Given the description of an element on the screen output the (x, y) to click on. 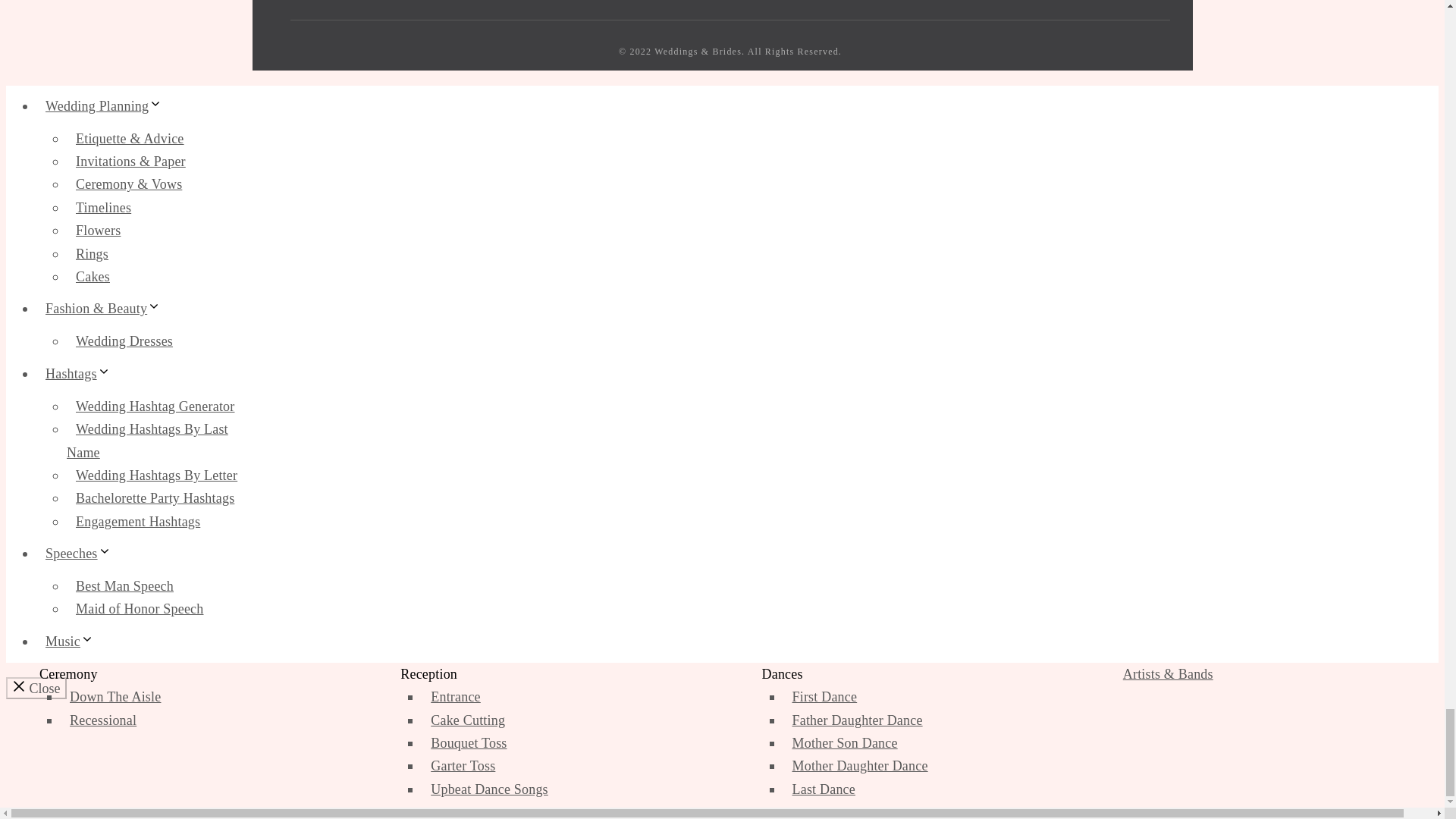
Weddings-and-Brides-Final-Logo-01-1-2 (377, 10)
